Given the description of an element on the screen output the (x, y) to click on. 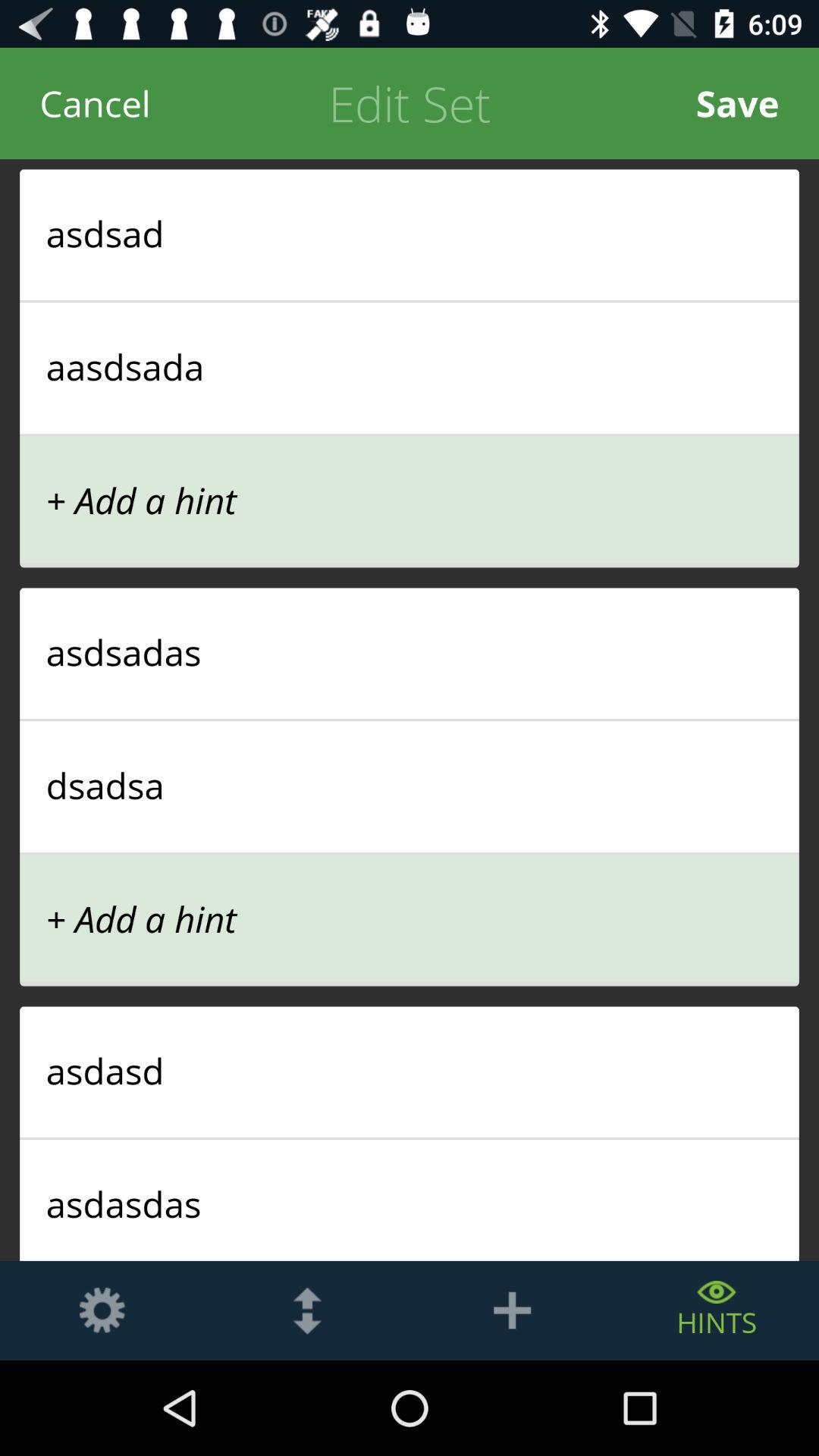
open the item at the bottom right corner (716, 1310)
